Given the description of an element on the screen output the (x, y) to click on. 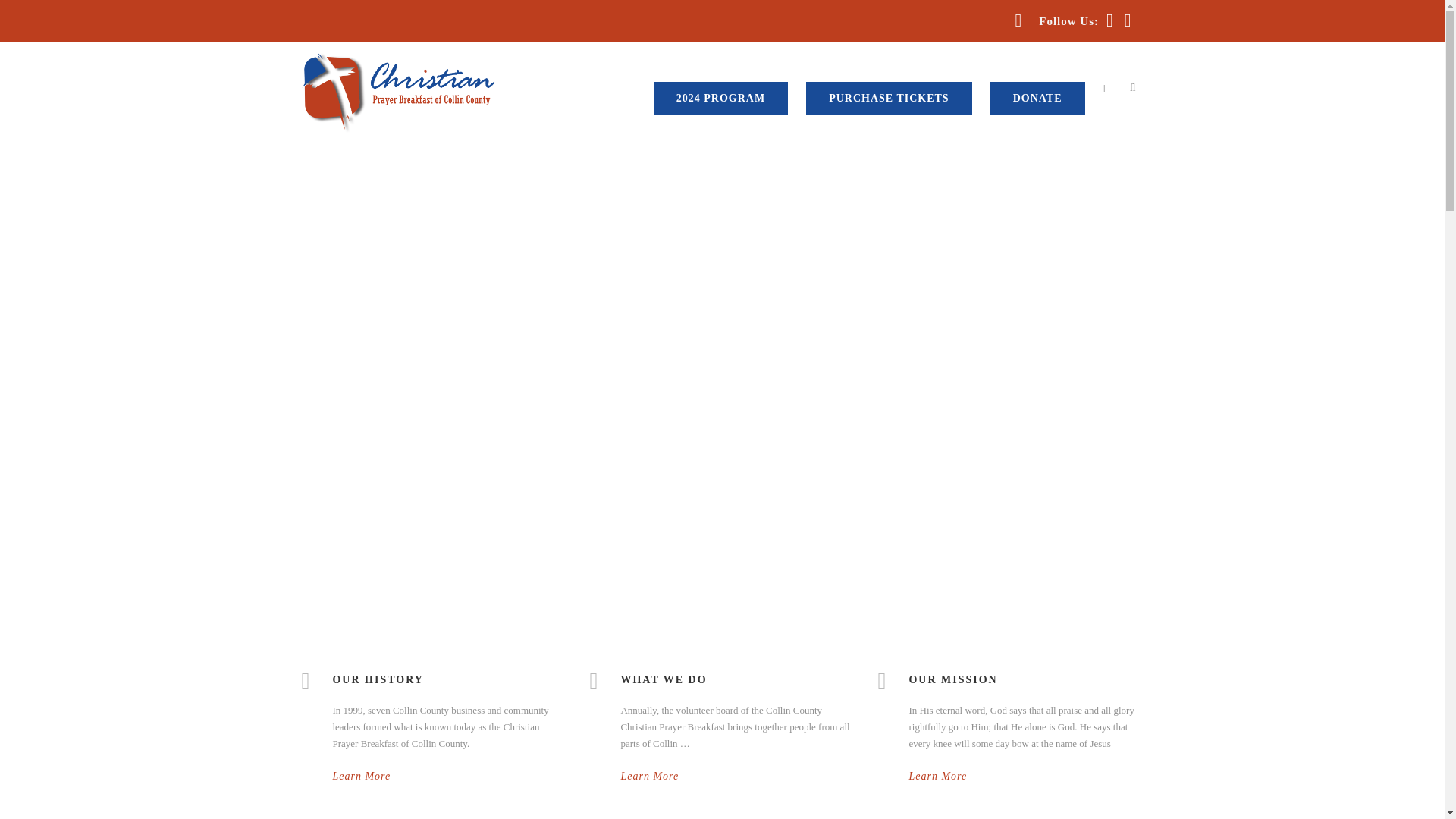
Learn More (937, 776)
PURCHASE TICKETS (889, 98)
Learn More (649, 776)
DONATE (1037, 98)
2024 PROGRAM (720, 98)
Follow Us: (1072, 21)
Learn More (360, 776)
